Given the description of an element on the screen output the (x, y) to click on. 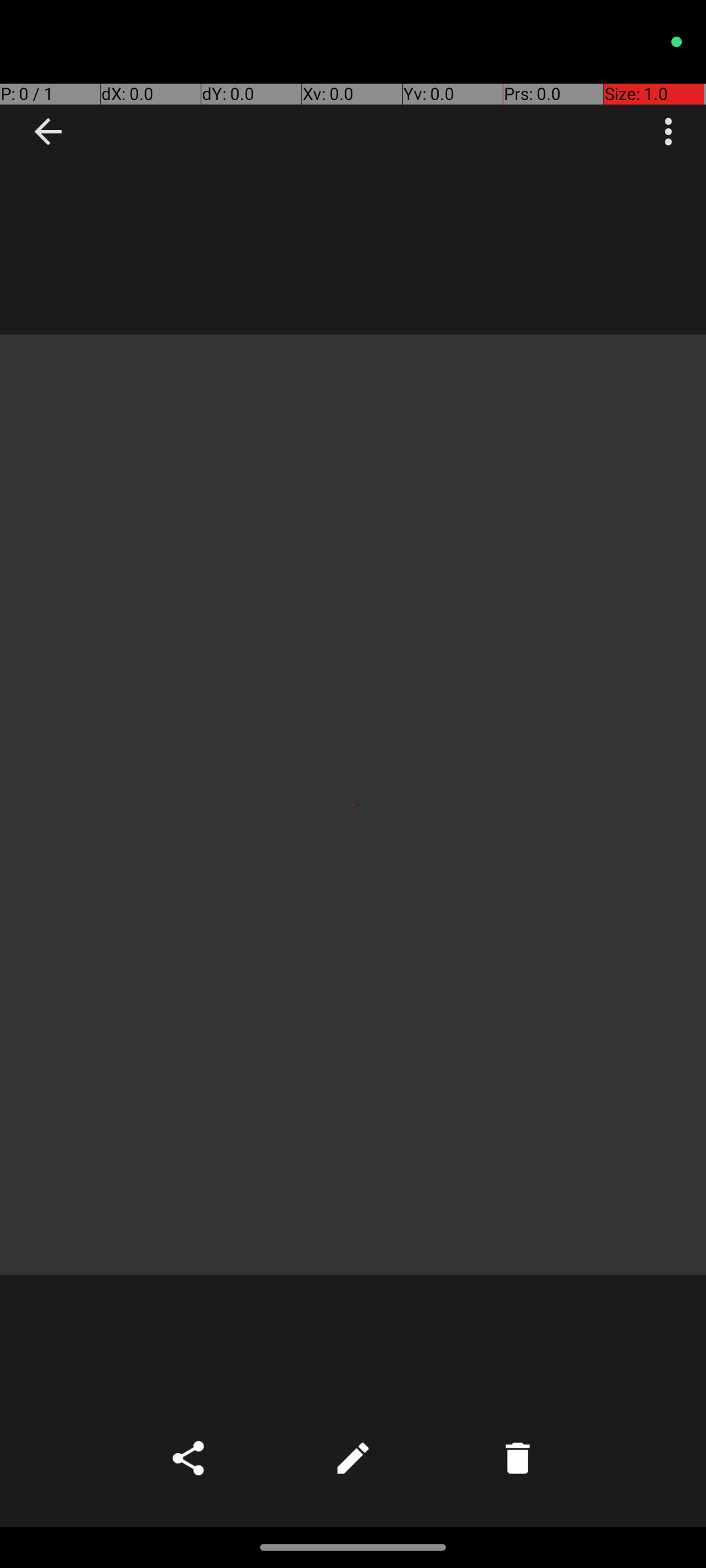
Edit Element type: android.widget.ImageButton (352, 1458)
Delete Element type: android.widget.ImageButton (517, 1458)
Navigate up Element type: android.widget.ImageButton (48, 131)
Photo taken on Oct 15, 2023 15:34:31 Element type: android.widget.ImageView (353, 804)
